Given the description of an element on the screen output the (x, y) to click on. 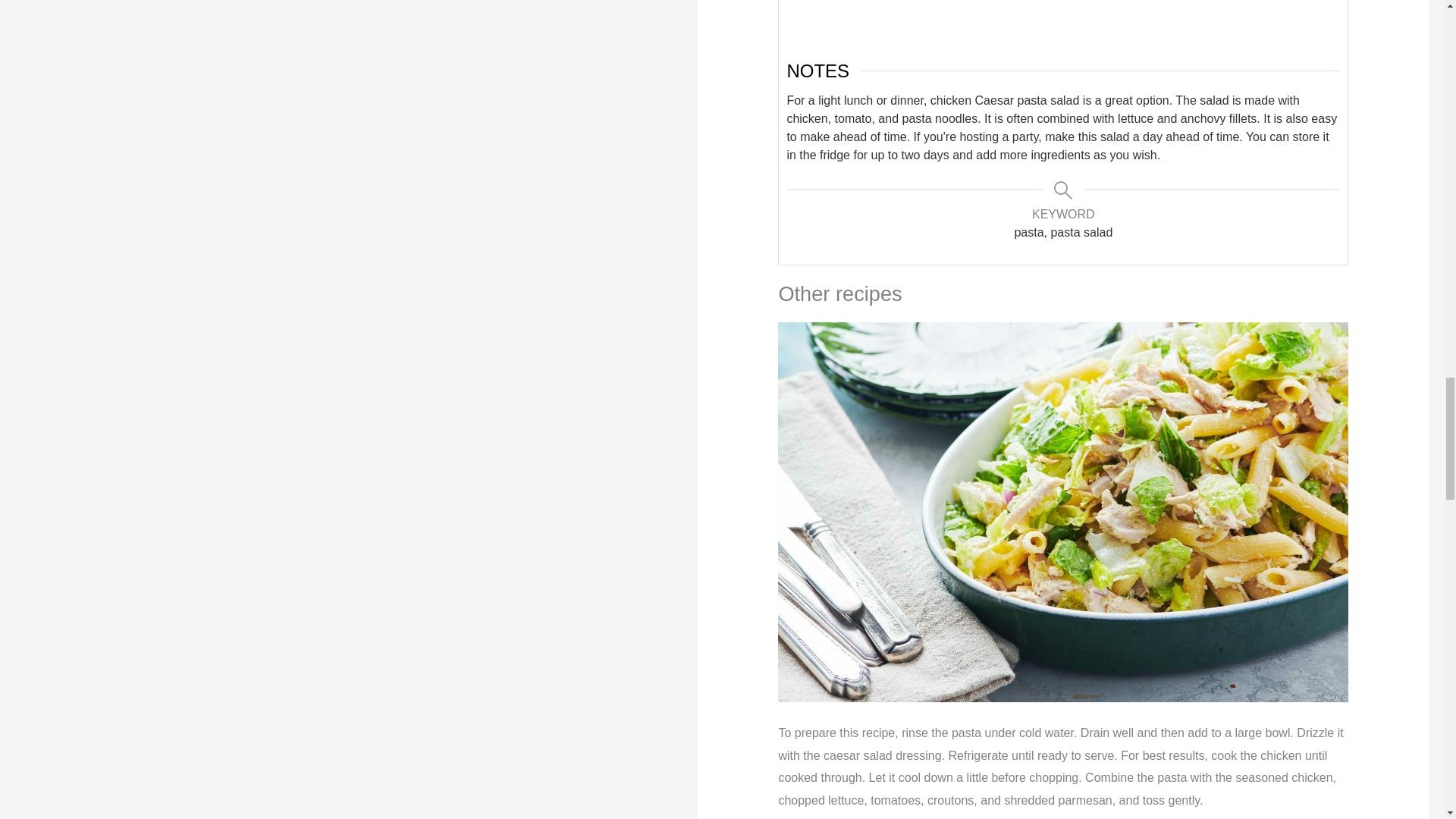
Chicken Caesar Pasta Salad (1062, 18)
